Given the description of an element on the screen output the (x, y) to click on. 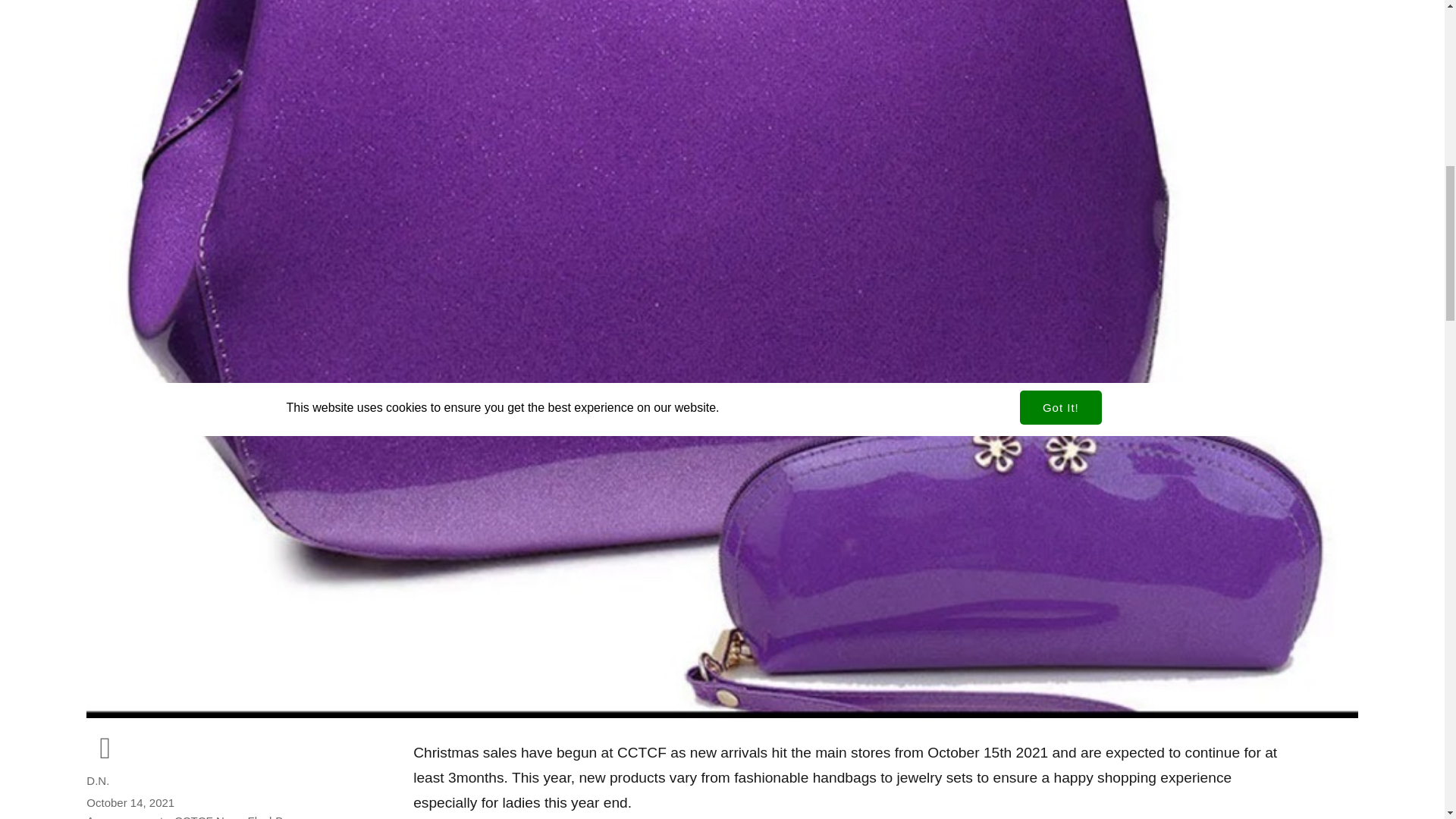
D.N. (97, 780)
October 14, 2021 (129, 802)
CCTCF News Flash (224, 816)
Announcements (126, 816)
Bonne (291, 816)
